Given the description of an element on the screen output the (x, y) to click on. 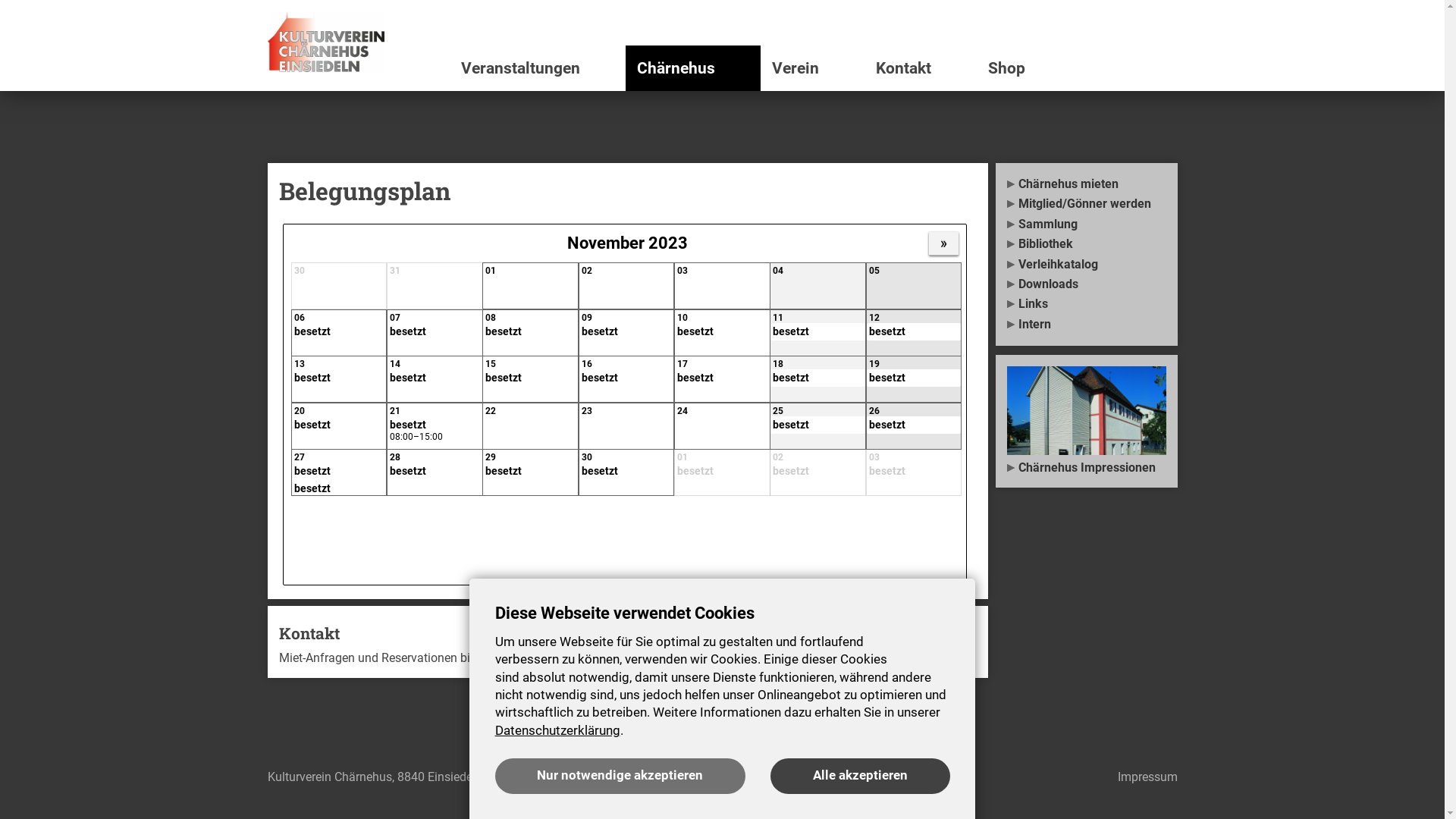
Shop Element type: text (1076, 68)
vermietung@chaernehus.ch Element type: text (670, 657)
Links Element type: text (1086, 303)
Bibliothek Element type: text (1086, 244)
Impressum Element type: text (1147, 776)
Intern Element type: text (1086, 324)
Alle akzeptieren Element type: text (859, 775)
Verleihkatalog Element type: text (1086, 264)
Nur notwendige akzeptieren Element type: text (619, 775)
Kontakt Element type: text (920, 68)
Veranstaltungen Element type: text (536, 68)
Verein Element type: text (811, 68)
Downloads Element type: text (1086, 284)
Sammlung Element type: text (1086, 224)
